Given the description of an element on the screen output the (x, y) to click on. 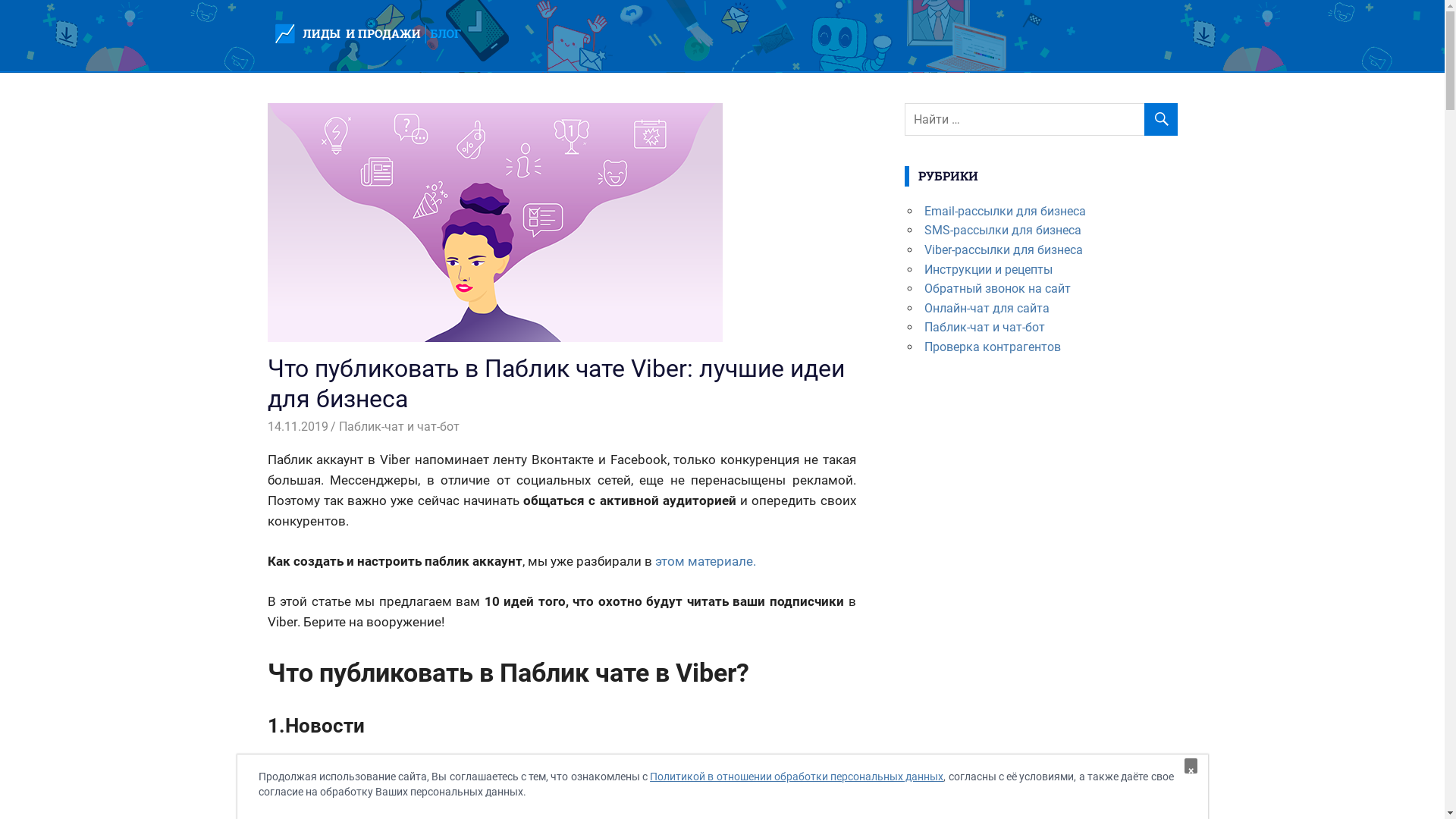
14.11.2019 Element type: text (296, 426)
